Given the description of an element on the screen output the (x, y) to click on. 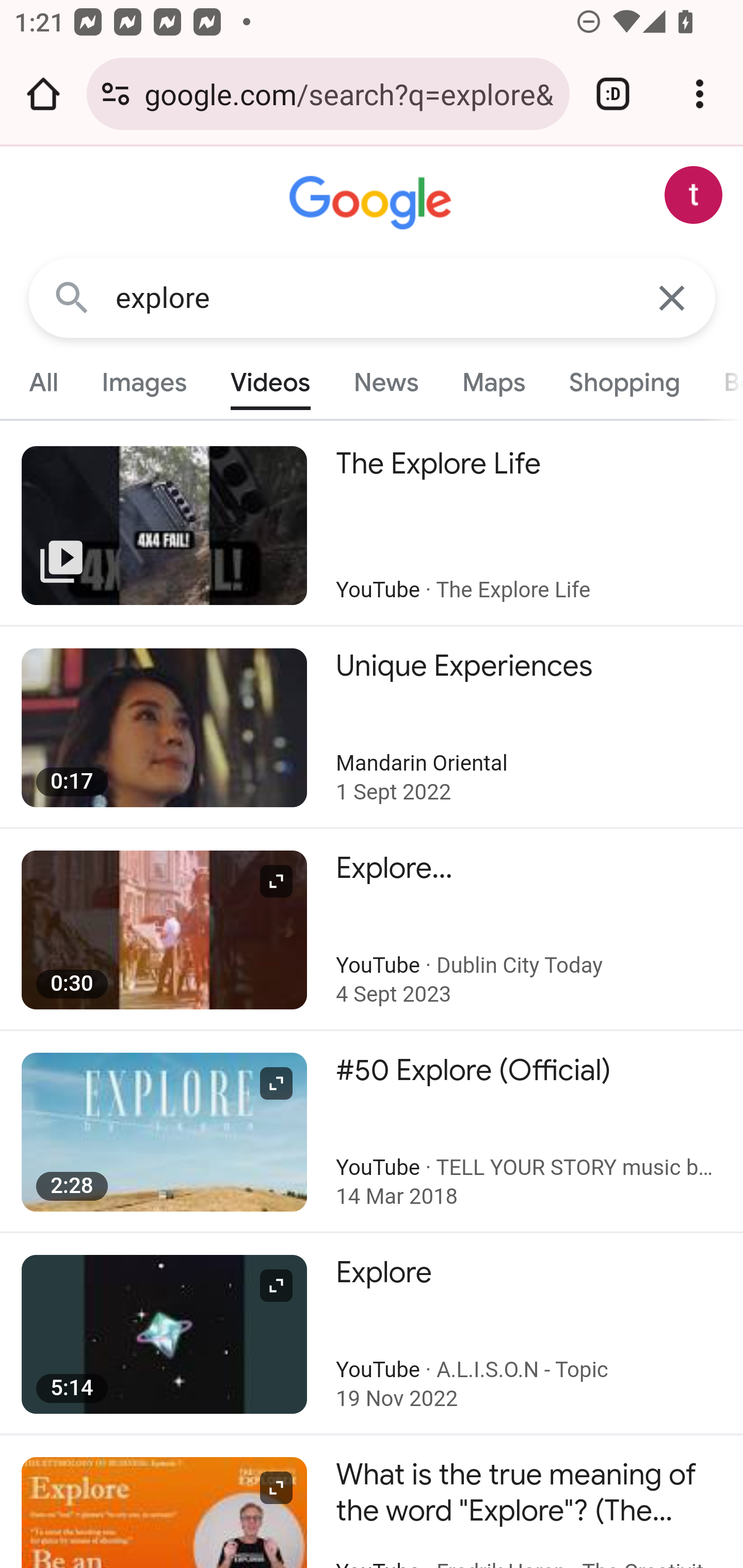
Open the home page (43, 93)
Connection is secure (115, 93)
Switch or close tabs (612, 93)
Customize and control Google Chrome (699, 93)
Google (372, 203)
Google Search (71, 296)
Clear Search (672, 296)
explore (372, 297)
All (43, 382)
Images (144, 382)
News (385, 382)
Maps (493, 382)
Shopping (623, 382)
